Given the description of an element on the screen output the (x, y) to click on. 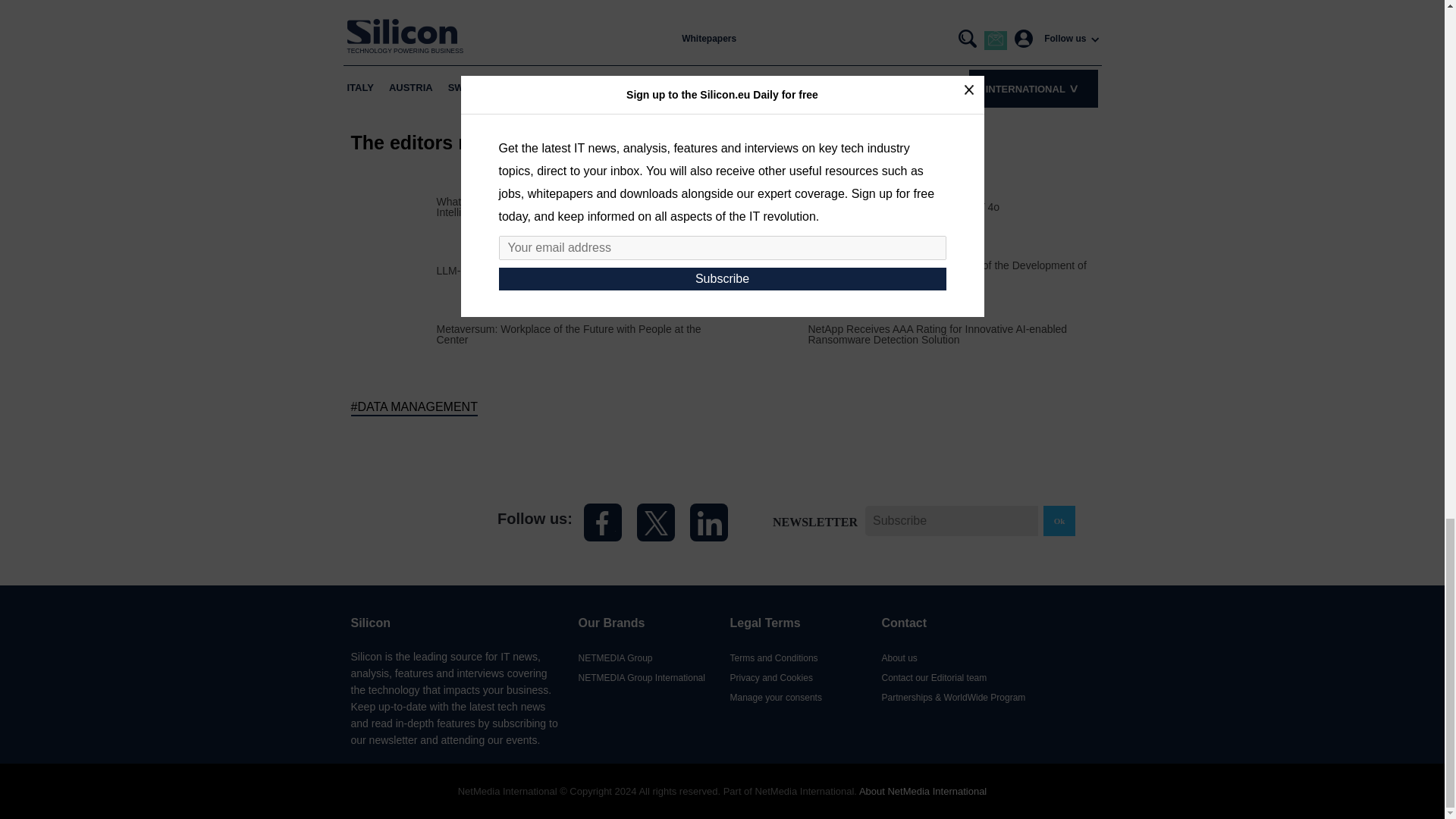
LLM-Benchmark for CRM (496, 269)
14486Pure Storage Adds New Self-Service Features to Pure1 (764, 205)
14294Pure Storage Adds New Self-Service Features to Pure1 (764, 332)
14468Pure Storage Adds New Self-Service Features to Pure1 (393, 205)
Human-Machine Interaction with GPT 4o (904, 205)
14454Pure Storage Adds New Self-Service Features to Pure1 (393, 269)
Silicon (408, 522)
14418Pure Storage Adds New Self-Service Features to Pure1 (393, 332)
14401Pure Storage Adds New Self-Service Features to Pure1 (764, 269)
